Given the description of an element on the screen output the (x, y) to click on. 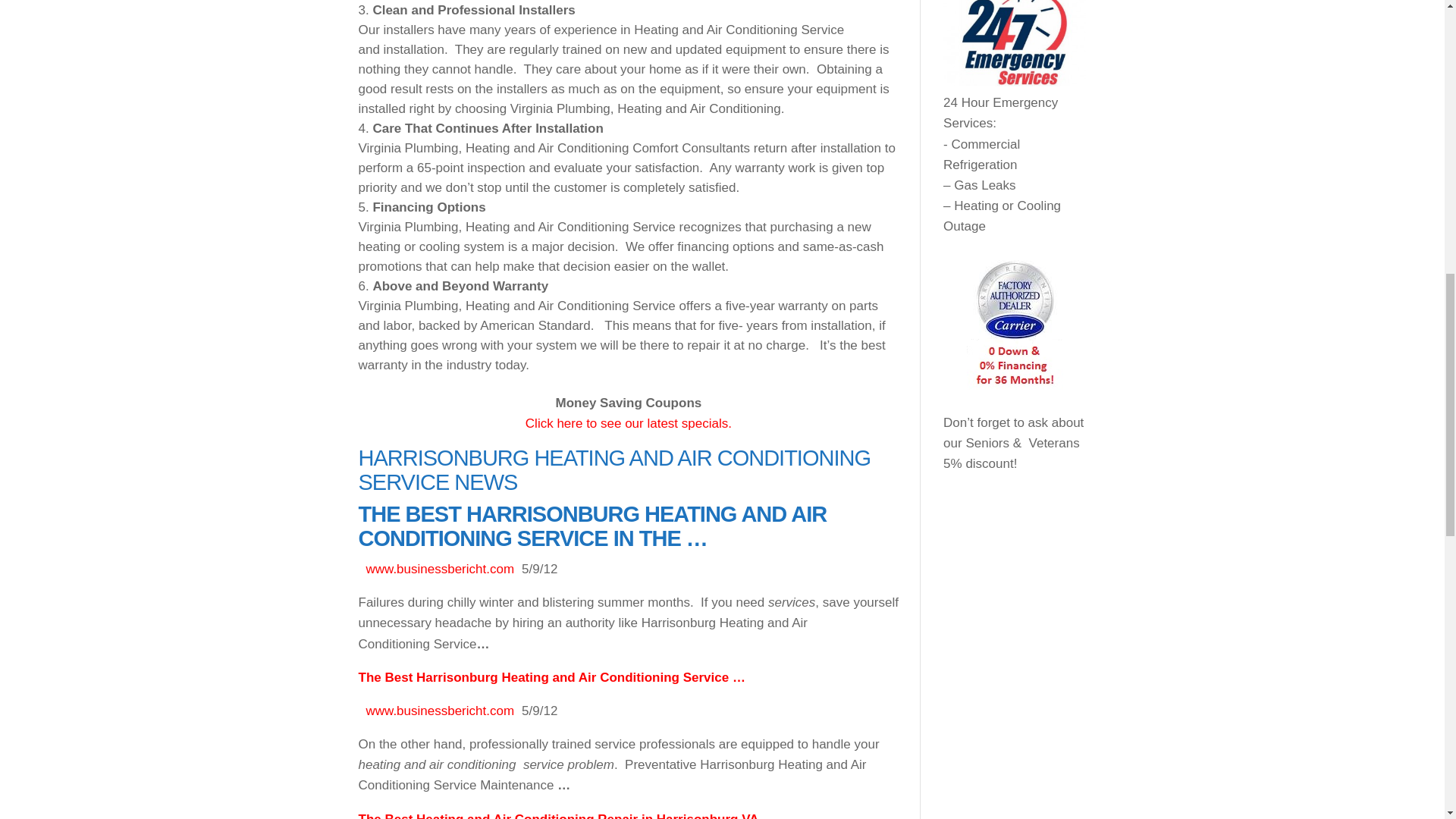
Click here to see our latest specials. (628, 423)
www.businessbericht.com (439, 568)
